Given the description of an element on the screen output the (x, y) to click on. 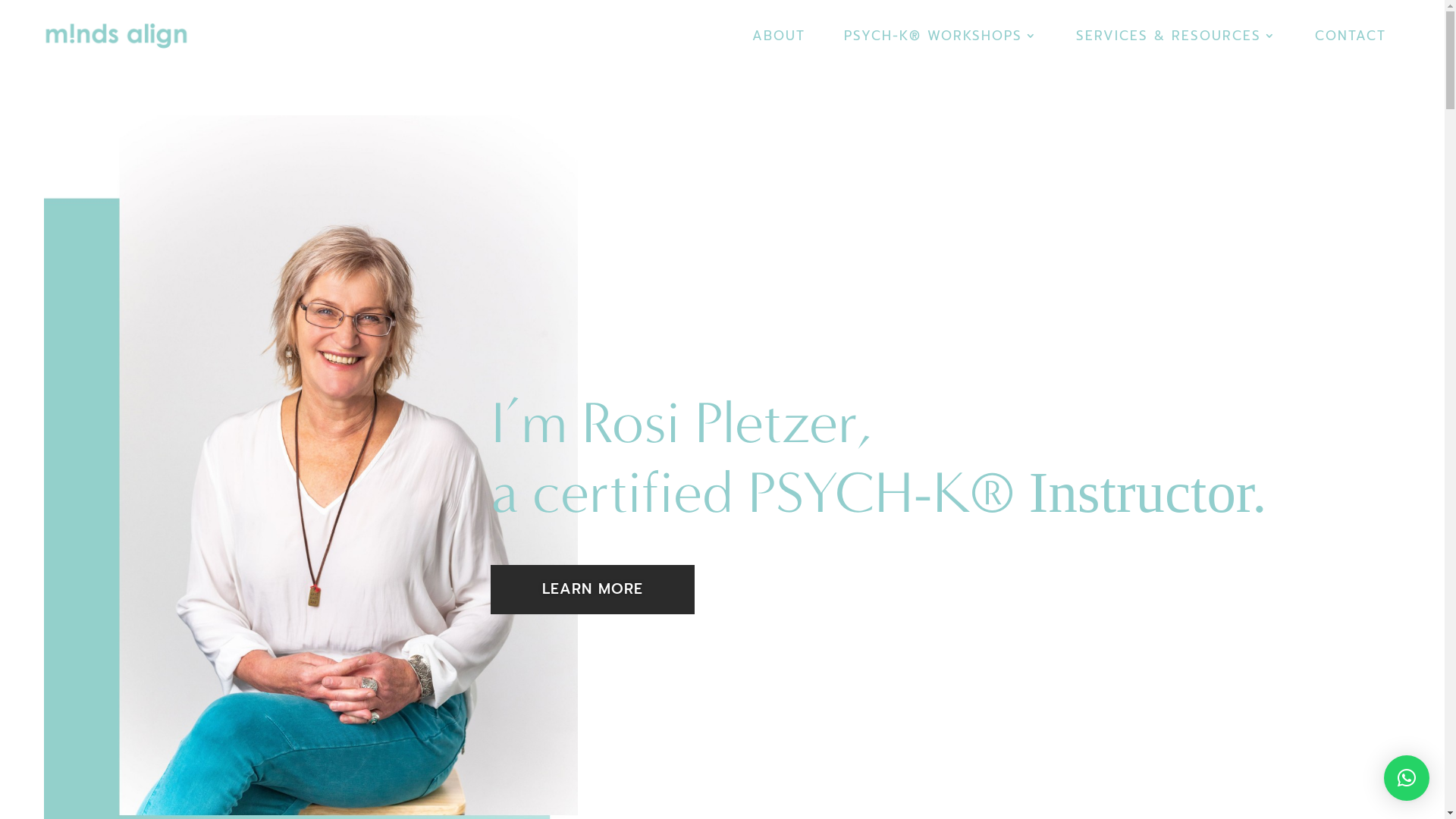
SERVICES & RESOURCES Element type: text (1176, 50)
CONTACT Element type: text (1350, 50)
ABOUT Element type: text (778, 50)
LEARN MORE Element type: text (592, 589)
